Given the description of an element on the screen output the (x, y) to click on. 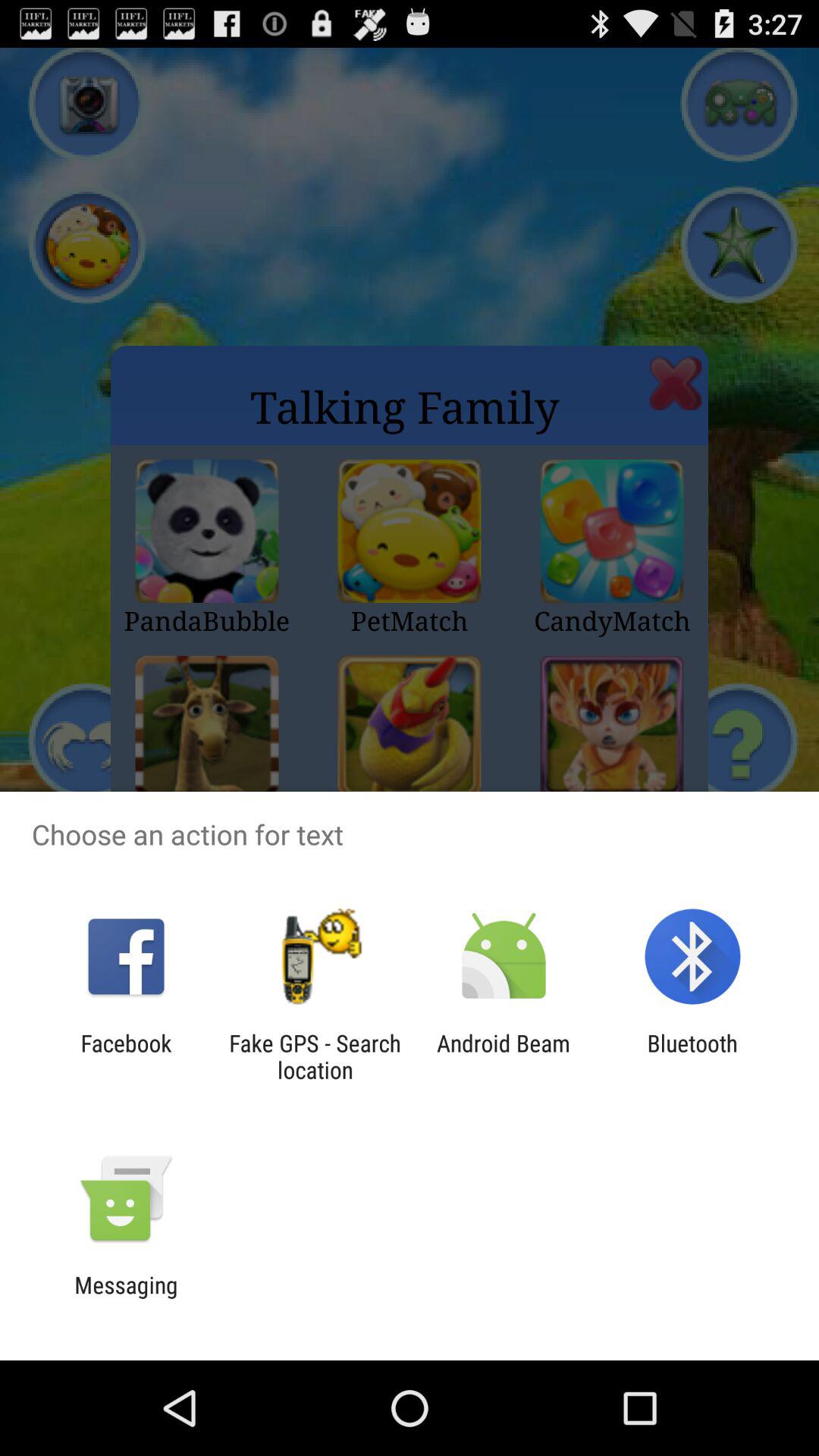
tap facebook item (125, 1056)
